Given the description of an element on the screen output the (x, y) to click on. 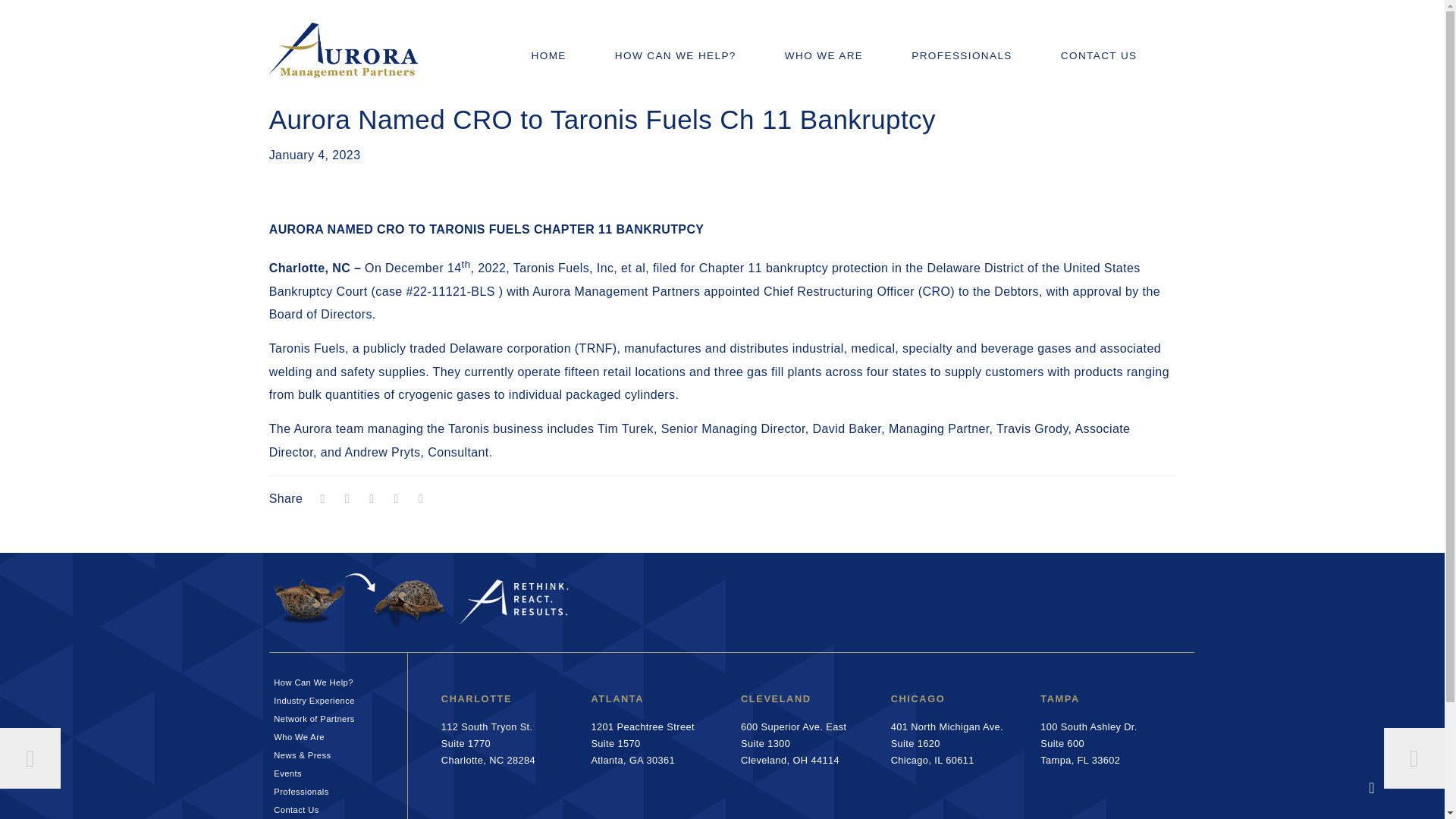
Industry Experience (1089, 743)
HOME (337, 698)
Contact Us (572, 30)
Network of Partners (337, 807)
HOW CAN WE HELP? (488, 743)
Events (337, 716)
Professionals (699, 30)
How Can We Help? (337, 771)
PROFESSIONALS (337, 789)
WHO WE ARE (947, 743)
